Given the description of an element on the screen output the (x, y) to click on. 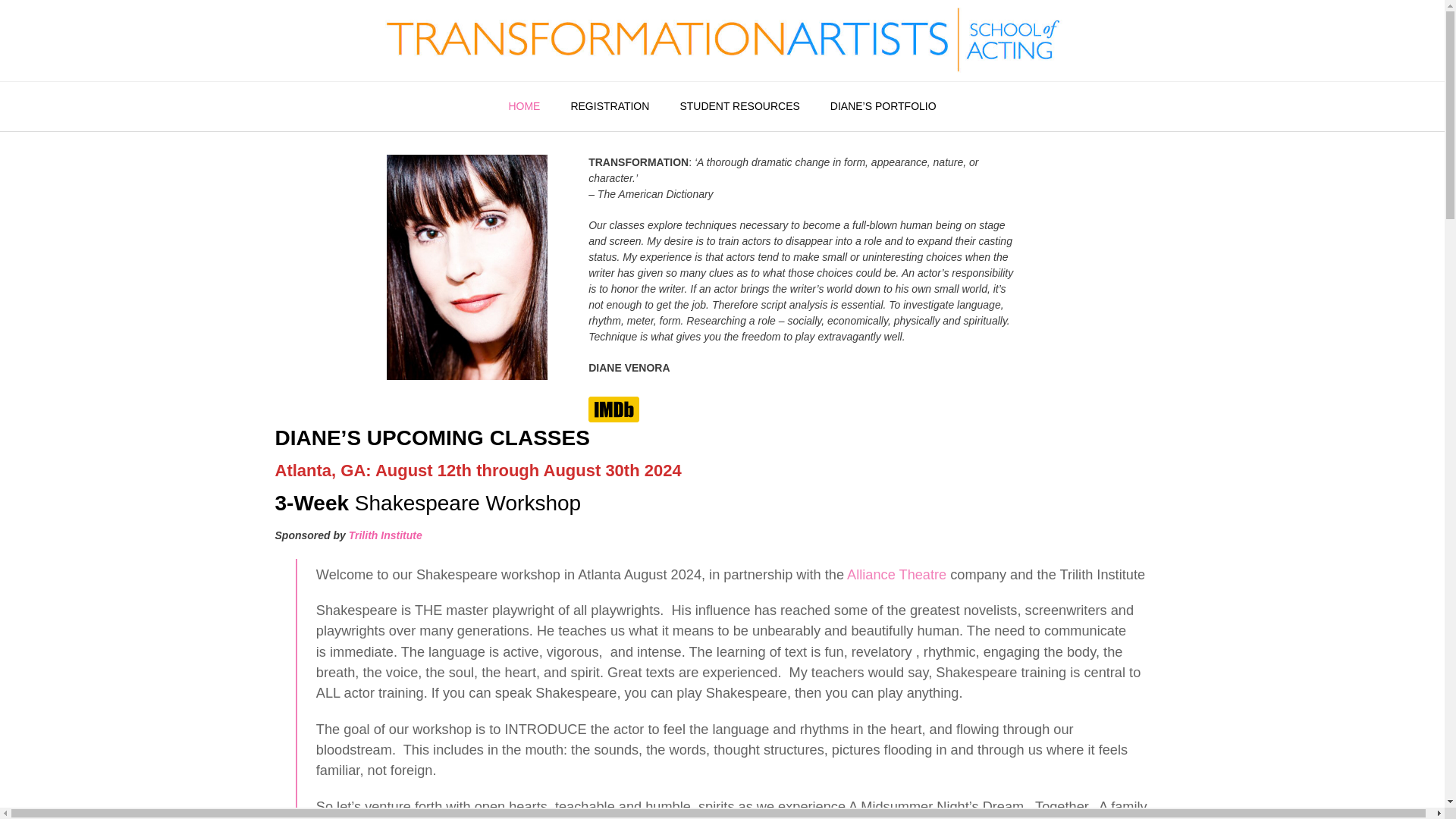
HOME (523, 106)
Alliance Theatre (896, 574)
Trilith Institute (385, 535)
REGISTRATION (608, 106)
Transformation Artists (721, 40)
STUDENT RESOURCES (738, 106)
